Given the description of an element on the screen output the (x, y) to click on. 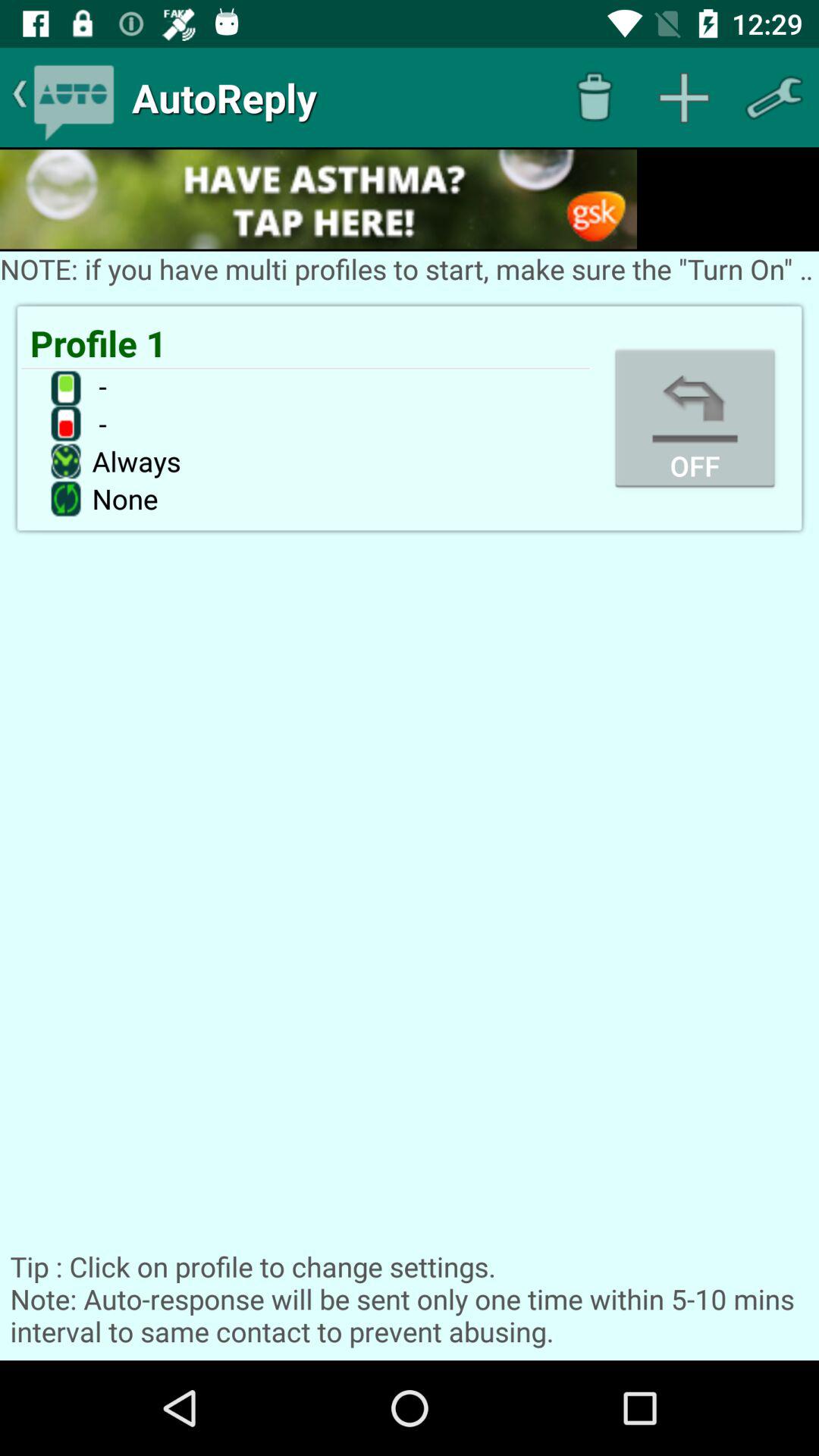
access advertisement (318, 199)
